Given the description of an element on the screen output the (x, y) to click on. 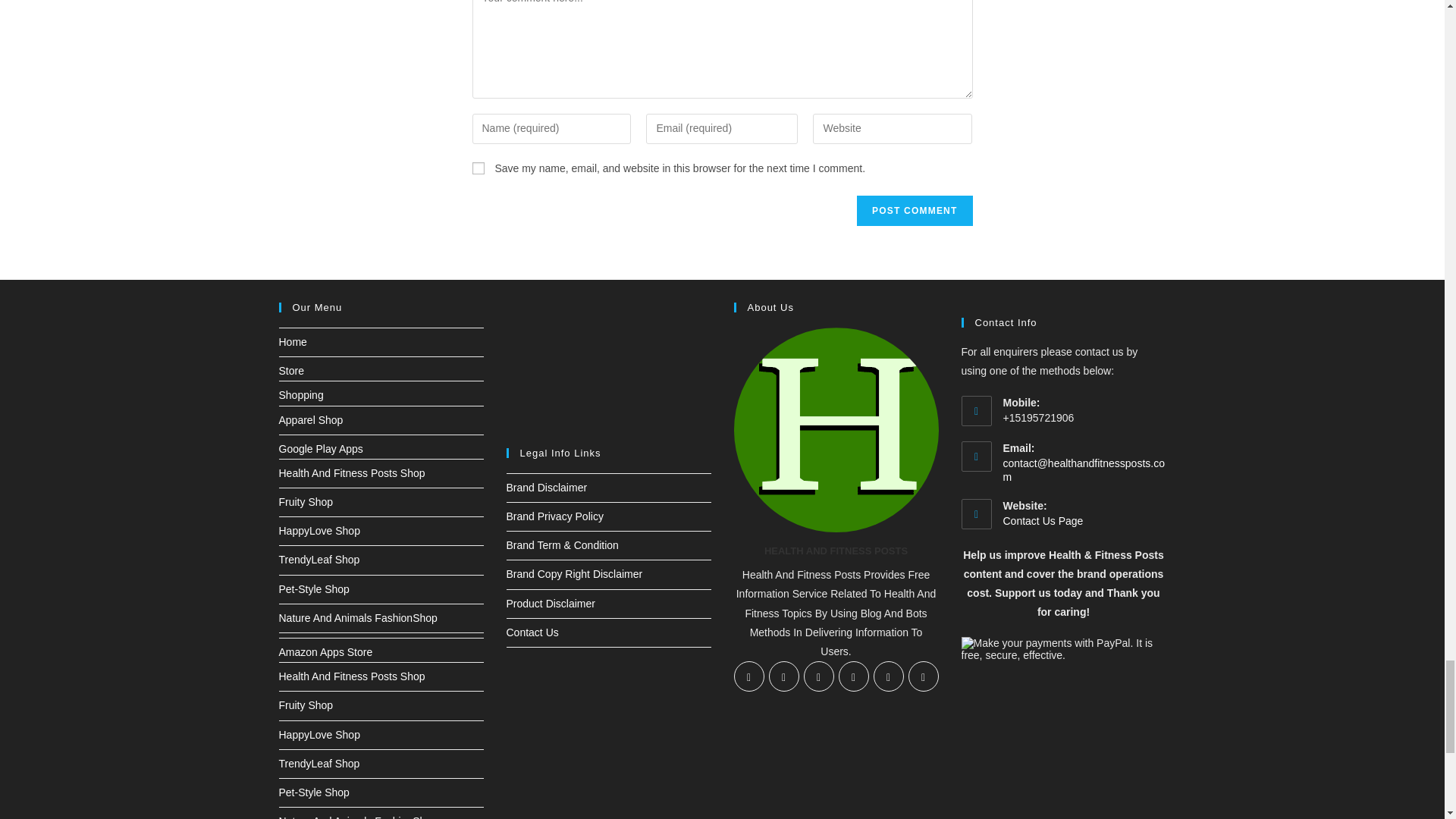
yes (477, 168)
Shopping (301, 395)
Post Comment (914, 210)
